Given the description of an element on the screen output the (x, y) to click on. 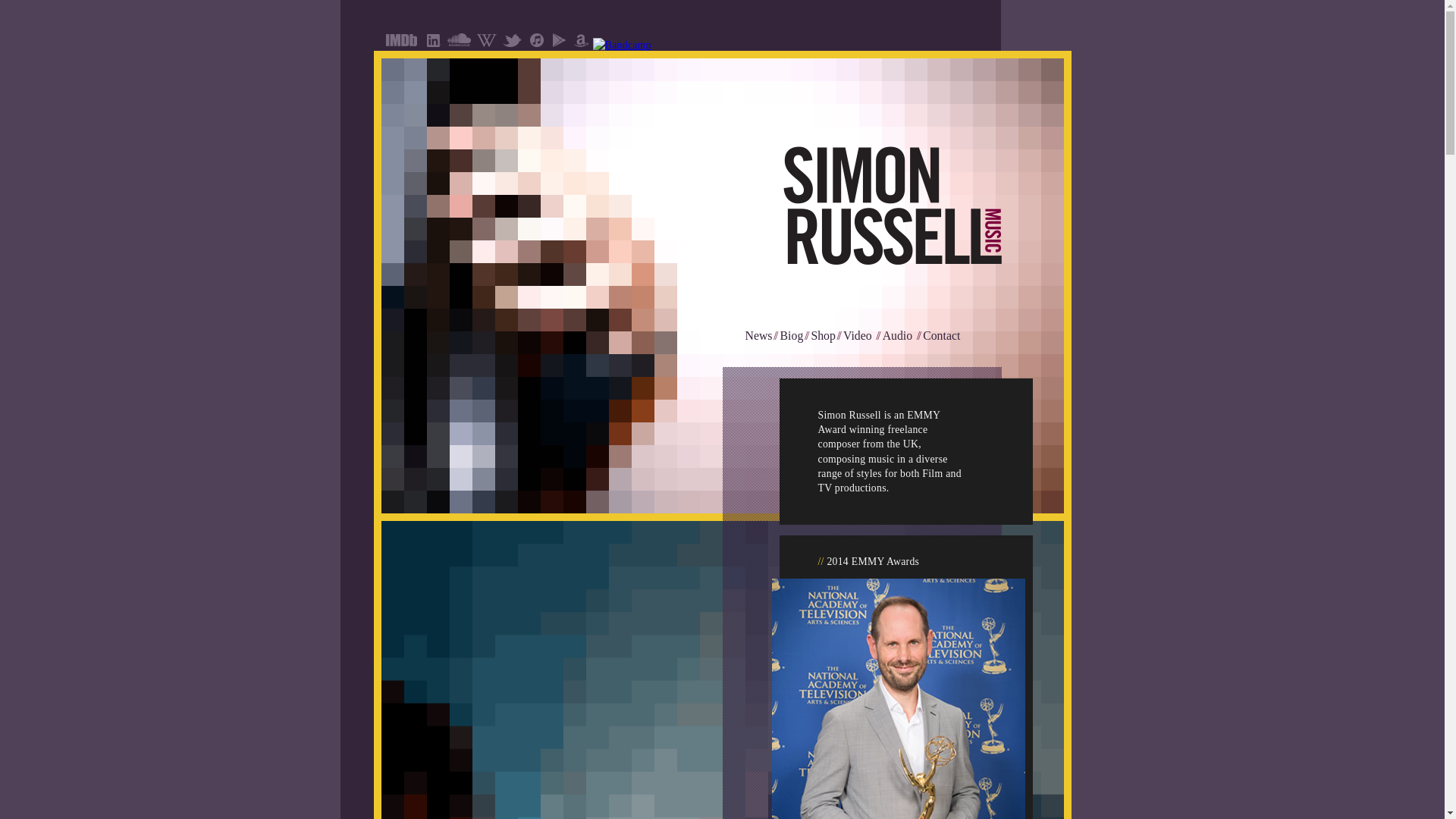
Simon Russell Original Soundtracks from Amazon (580, 44)
Simon Russell Original Soundtracks from Google Play (559, 44)
Shop (822, 335)
Video (857, 335)
Contact (941, 335)
Biog (791, 335)
News (757, 335)
Simon Russell Original Soundtracks from Bandcamp (621, 44)
Simon Russell Original Soundtracks from the iTunes Store (536, 44)
Audio (897, 335)
